Given the description of an element on the screen output the (x, y) to click on. 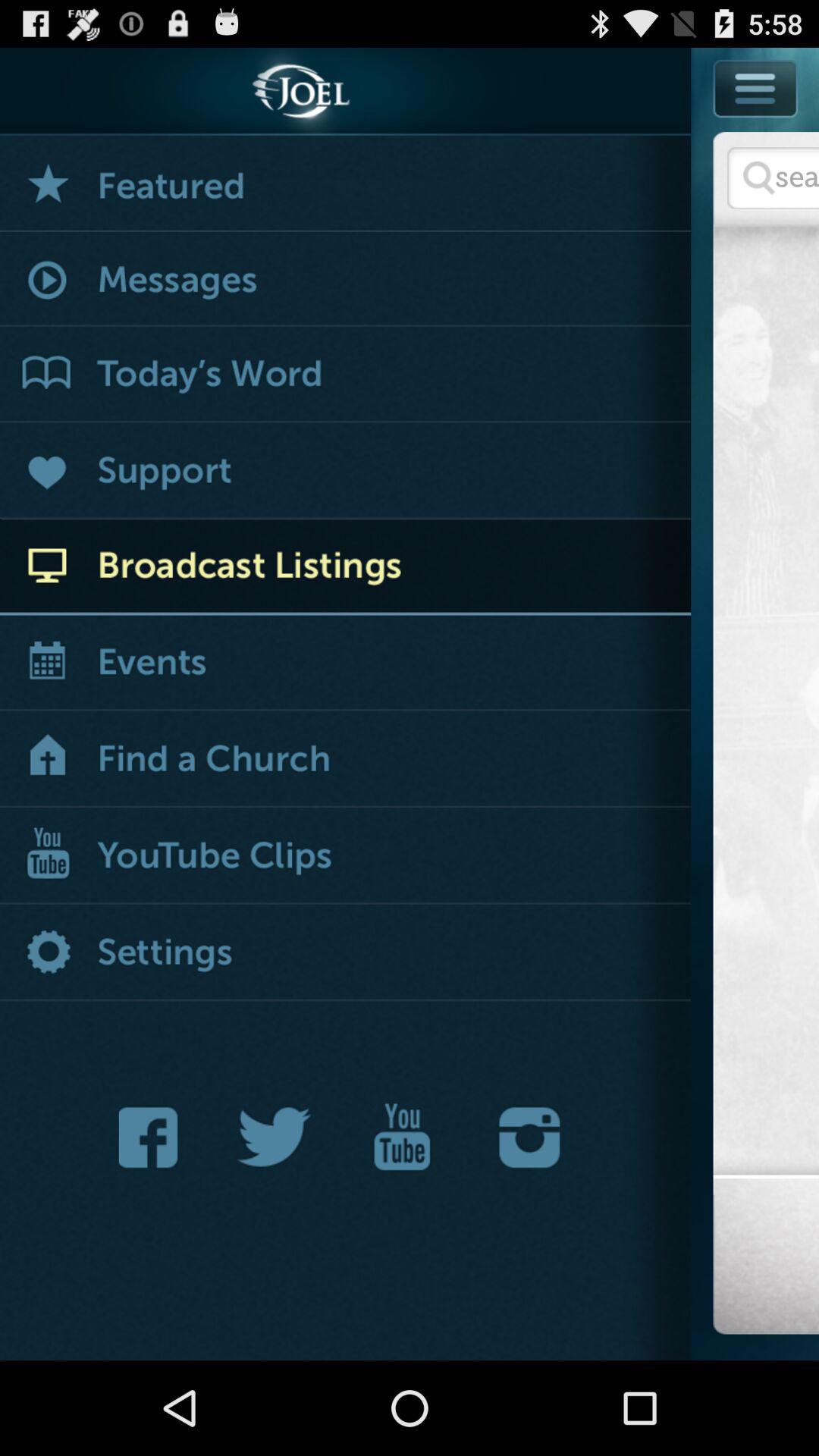
joel 's instagram (529, 1137)
